Given the description of an element on the screen output the (x, y) to click on. 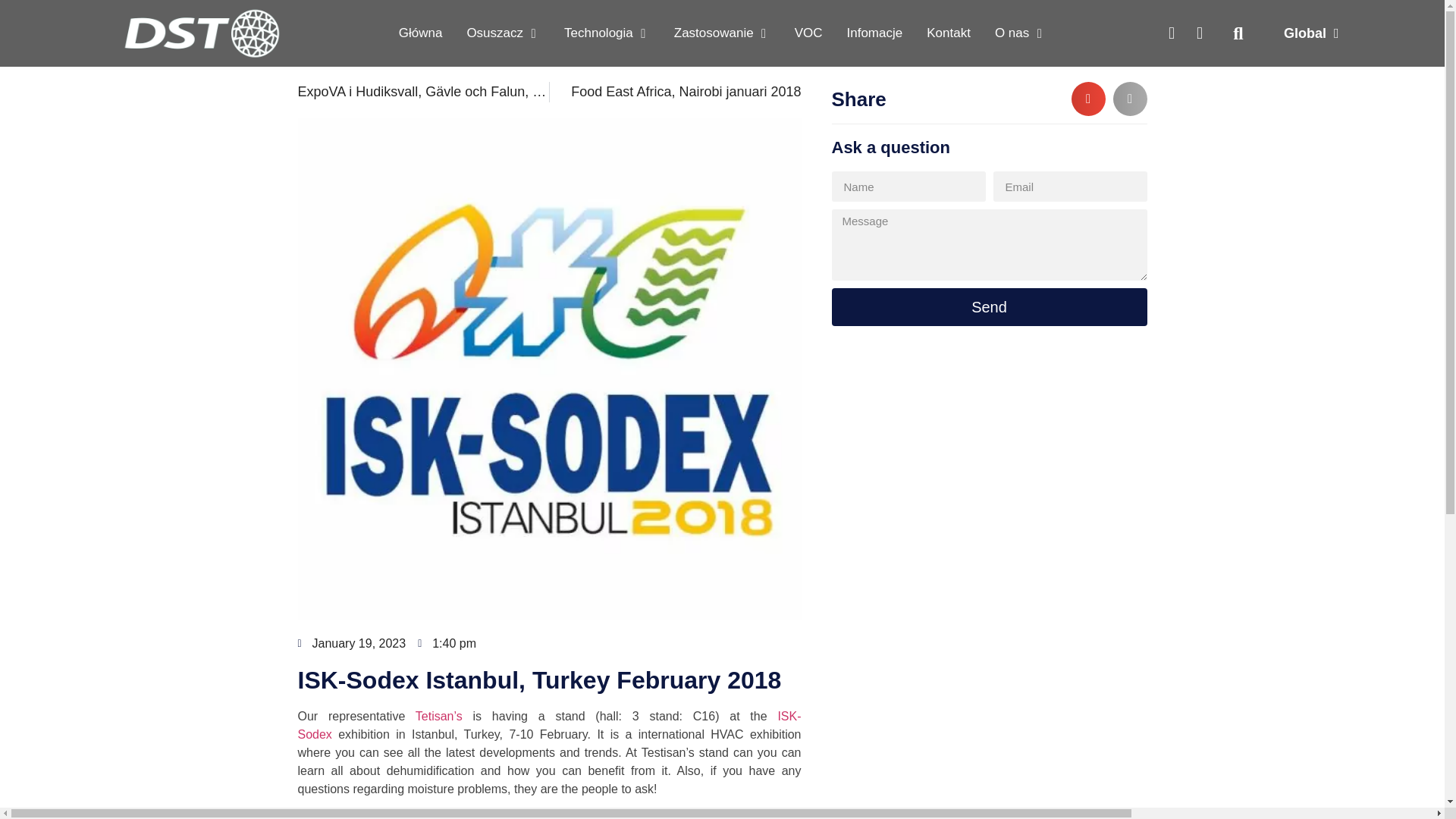
Osuszacz (493, 33)
Global (1311, 32)
